Given the description of an element on the screen output the (x, y) to click on. 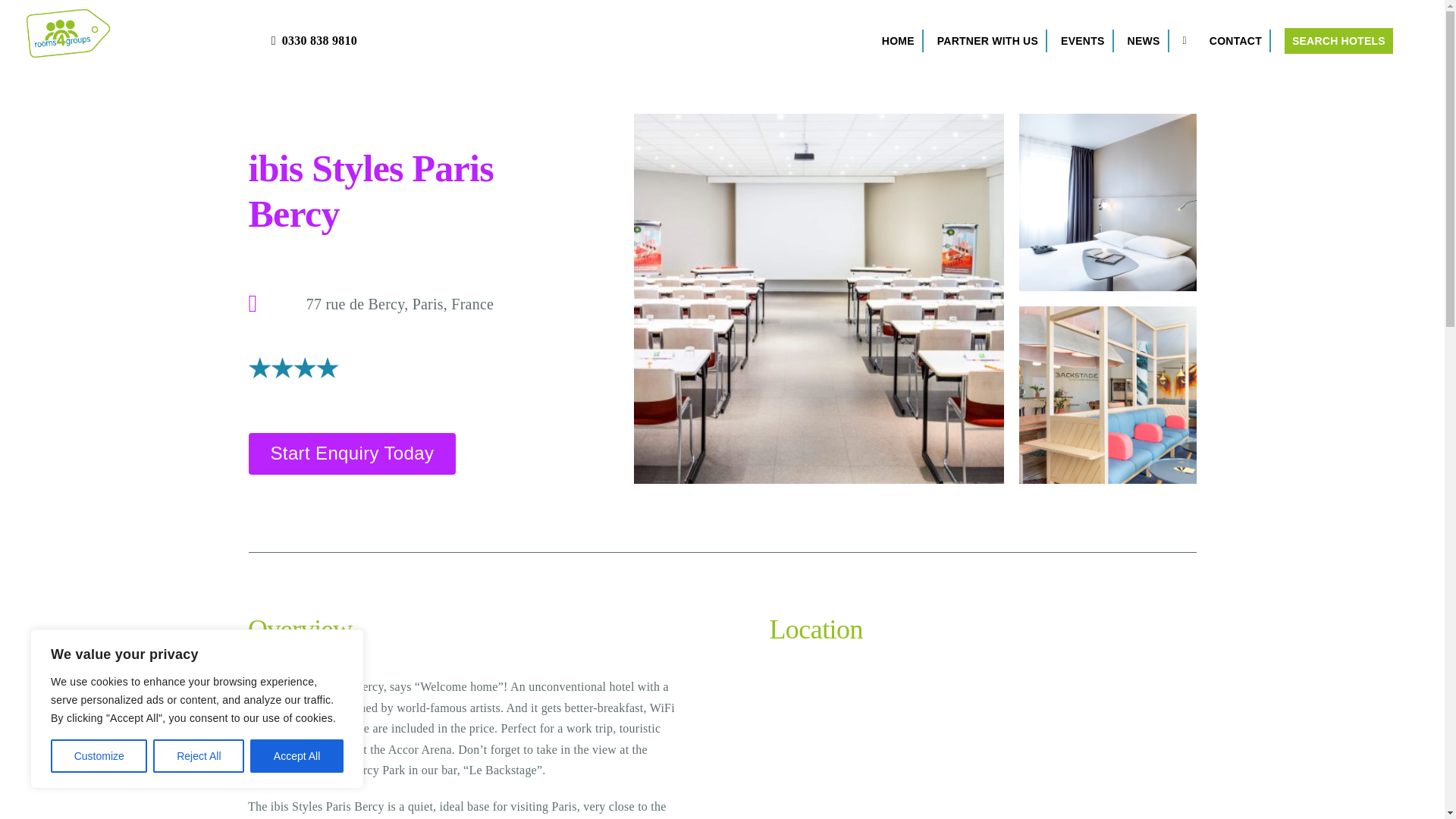
HOME (898, 40)
SEARCH HOTELS (1338, 40)
0330 838 9810 (310, 40)
NEWS (1143, 40)
EVENTS (1082, 40)
CONTACT (1235, 40)
Customize (98, 756)
PARTNER WITH US (987, 40)
Start Enquiry Today (352, 454)
Accept All (296, 756)
Reject All (198, 756)
